Given the description of an element on the screen output the (x, y) to click on. 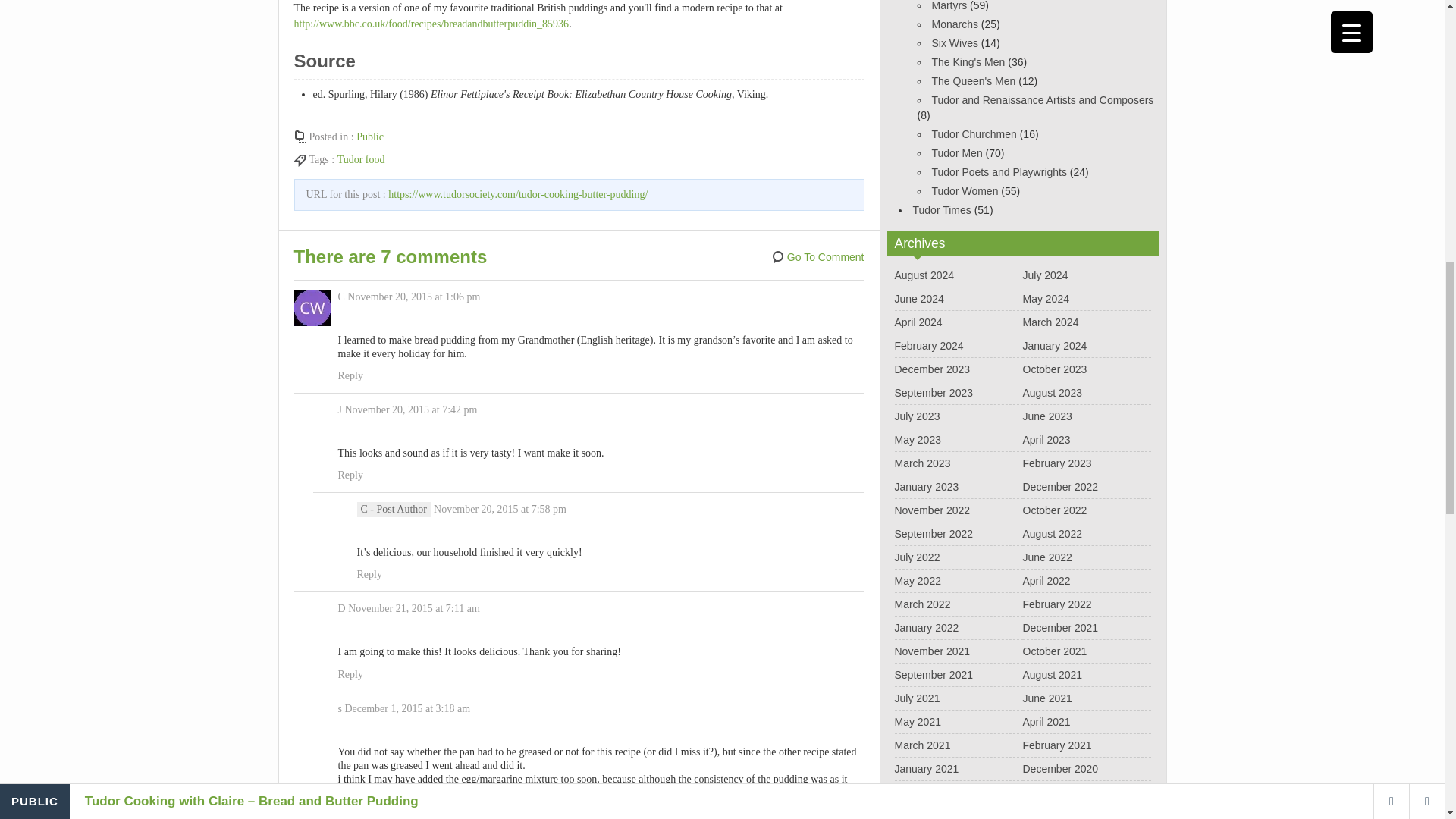
Public (370, 136)
Reply (349, 674)
Reply (368, 574)
Go To Comment (817, 256)
Tudor food (361, 159)
Reply (349, 475)
Reply (349, 376)
